Given the description of an element on the screen output the (x, y) to click on. 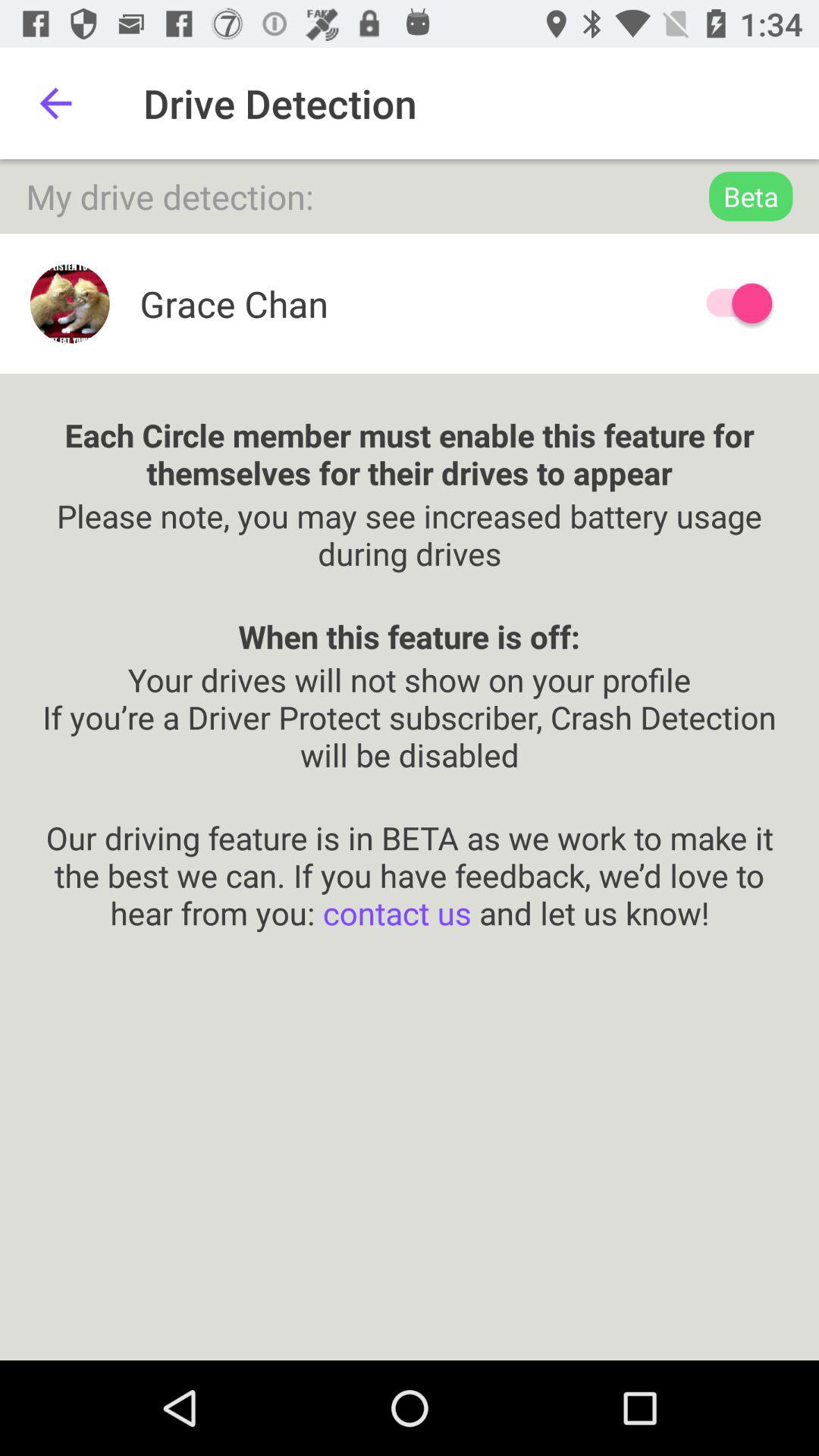
click item next to grace chan icon (731, 303)
